Given the description of an element on the screen output the (x, y) to click on. 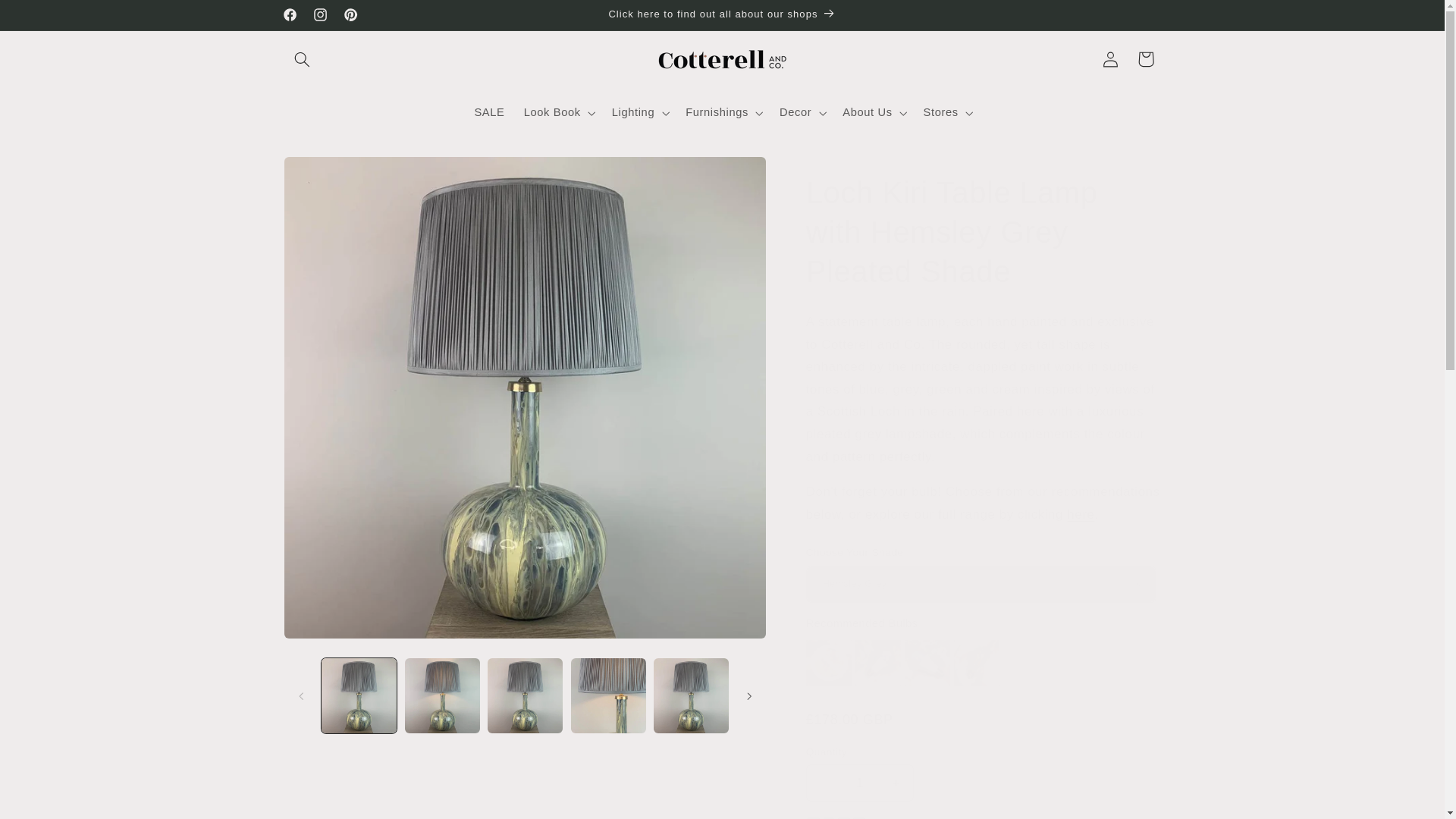
Pinterest (349, 15)
Skip to content (48, 18)
Facebook (289, 15)
Click here to find out all about our shops (721, 15)
Instagram (319, 15)
1 (860, 782)
